Given the description of an element on the screen output the (x, y) to click on. 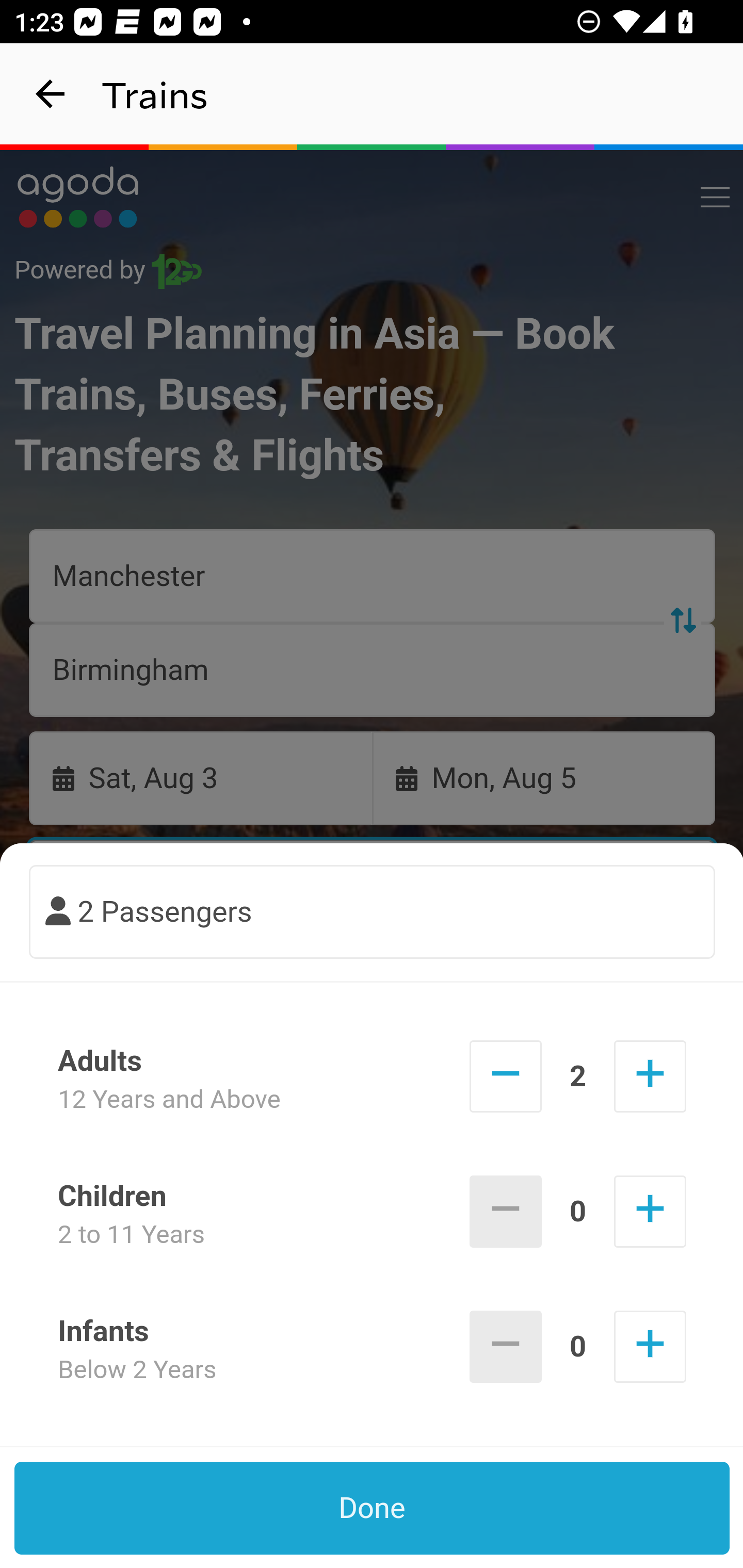
navigation_button (50, 93)
Done (372, 1508)
